Given the description of an element on the screen output the (x, y) to click on. 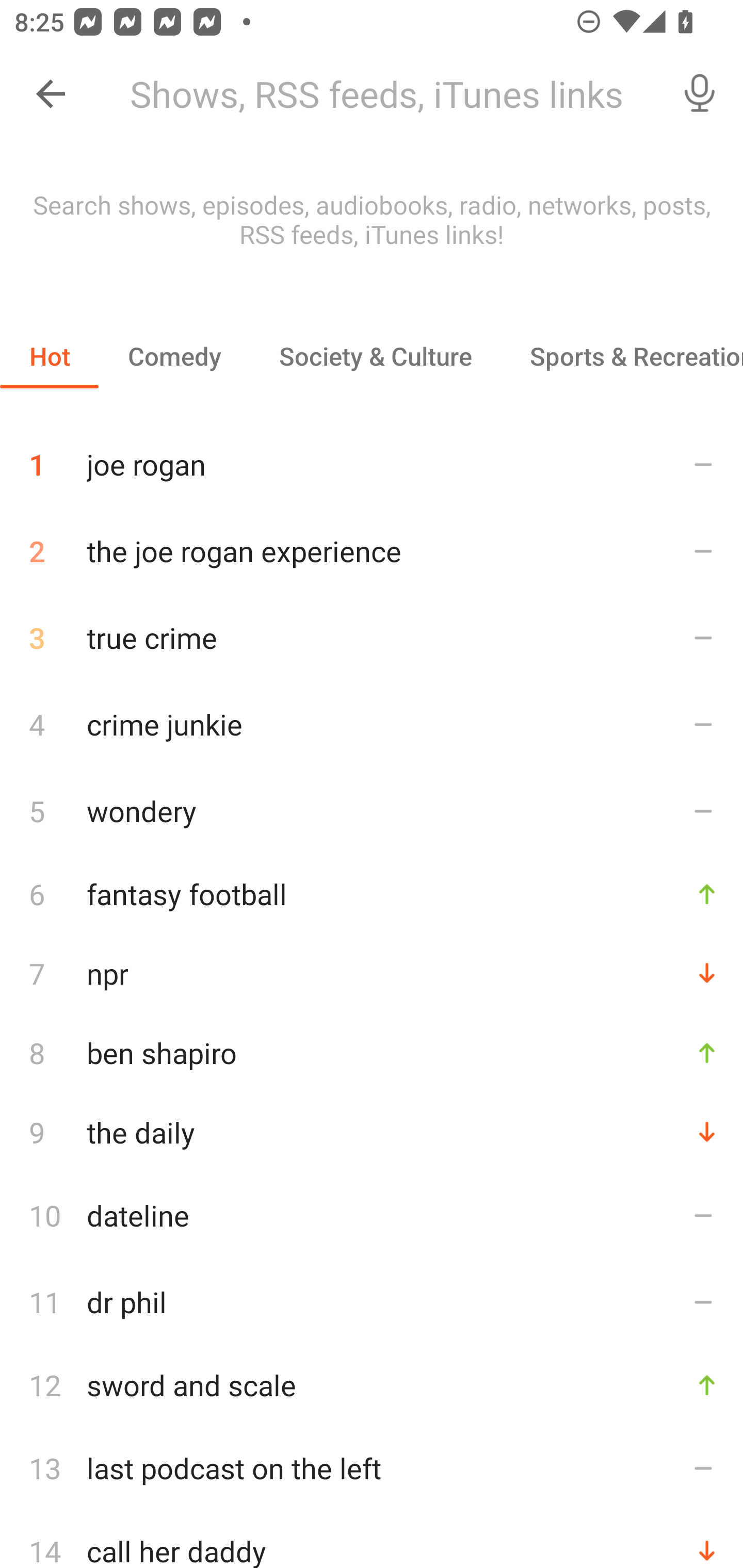
Collapse (50, 93)
Voice Search (699, 93)
Shows, RSS feeds, iTunes links (385, 94)
Hot (49, 355)
Comedy (173, 355)
Society & Culture (374, 355)
Sports & Recreation (621, 355)
1 joe rogan (371, 457)
2 the joe rogan experience (371, 551)
3 true crime (371, 637)
4 crime junkie (371, 723)
5 wondery (371, 810)
6 fantasy football (371, 893)
7 npr (371, 972)
8 ben shapiro (371, 1052)
9 the daily (371, 1131)
10 dateline (371, 1215)
11 dr phil (371, 1302)
12 sword and scale (371, 1385)
13 last podcast on the left (371, 1468)
14 call her daddy (371, 1539)
